Given the description of an element on the screen output the (x, y) to click on. 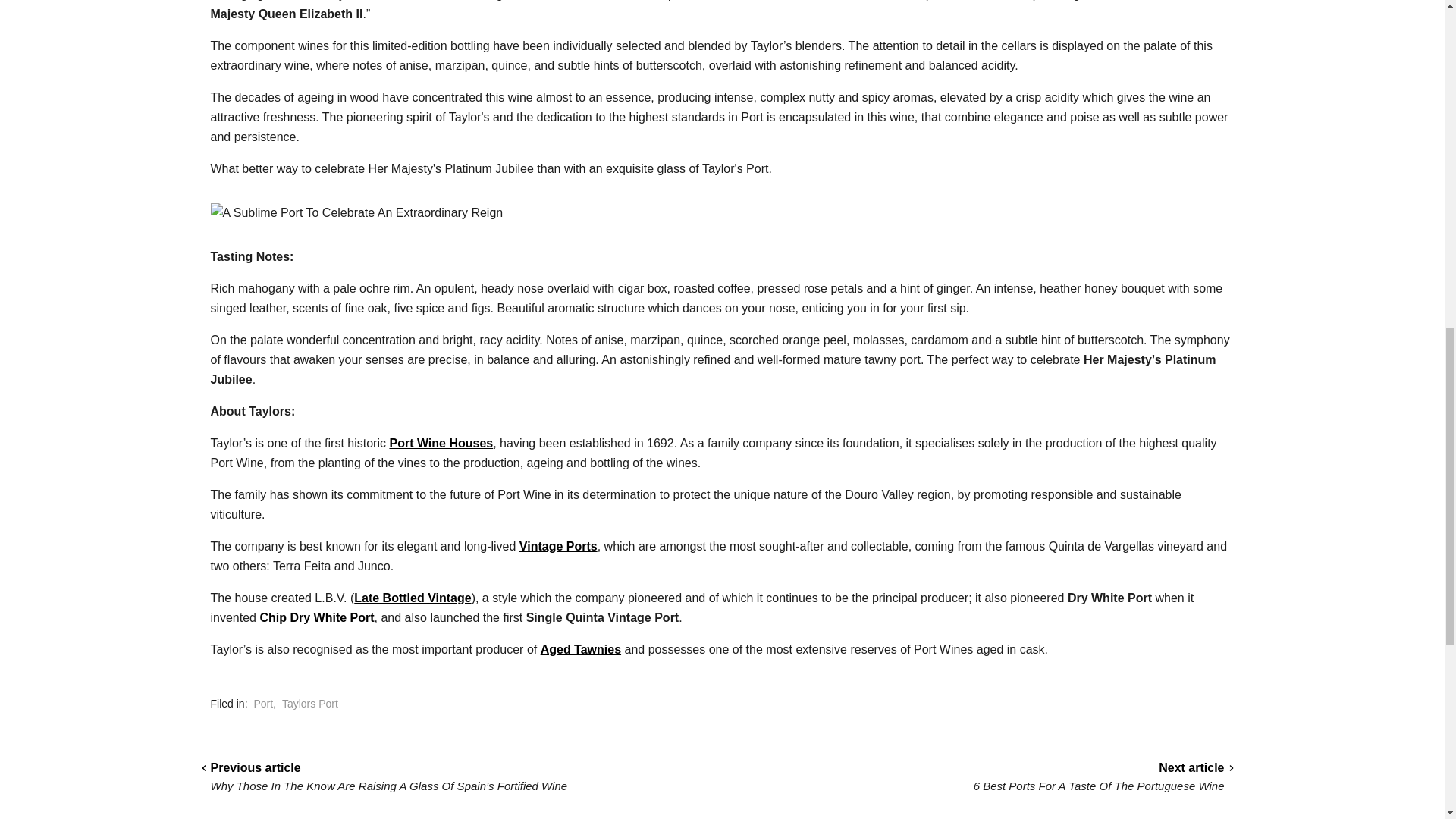
Late Bottled Vintage (411, 597)
Chip Dry White Port (316, 617)
Show articles tagged Port (263, 703)
Port Wine (973, 0)
Port Wine Houses (440, 442)
Vintage Ports (557, 545)
Aged Tawnies (580, 649)
